Given the description of an element on the screen output the (x, y) to click on. 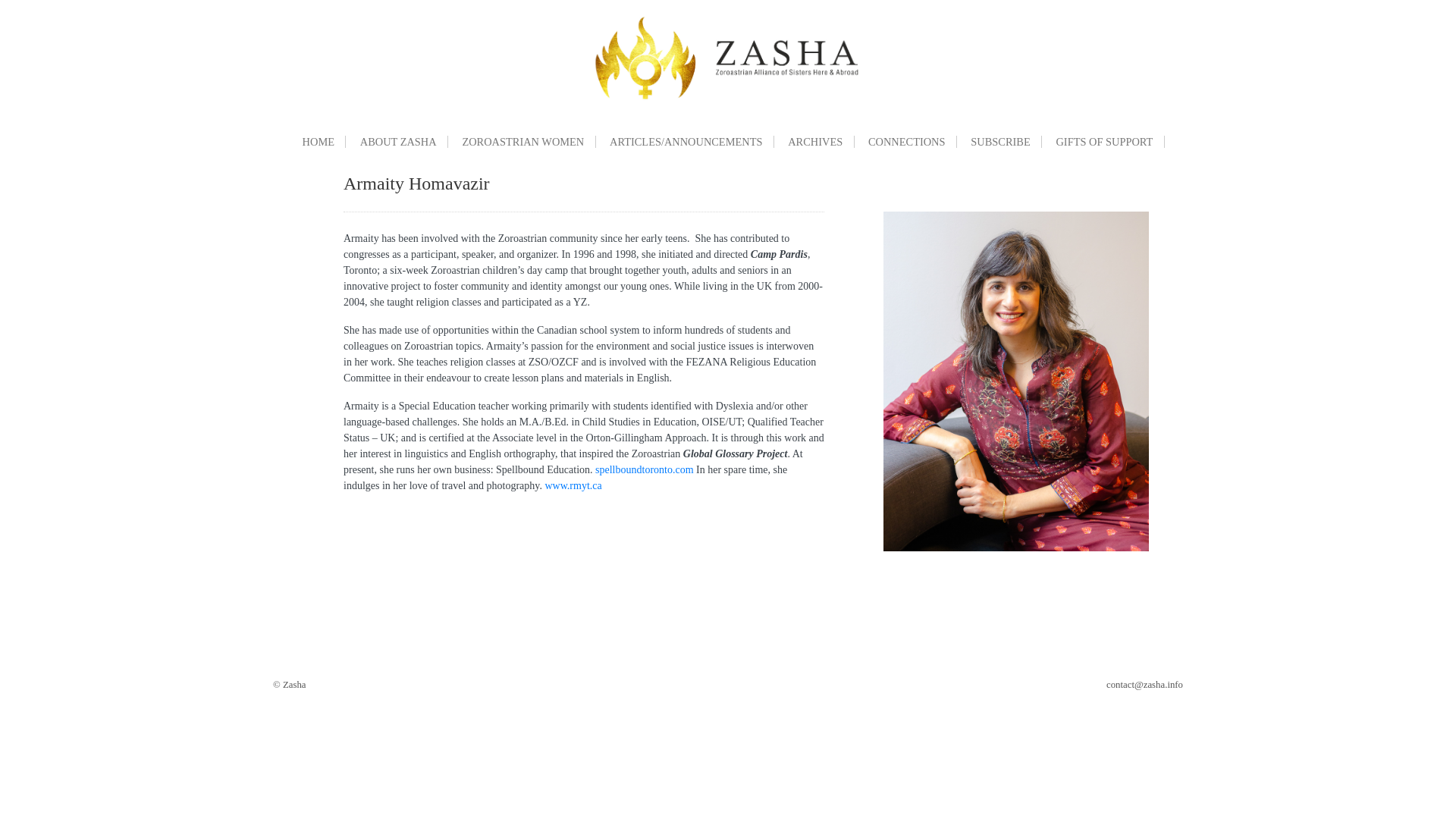
GIFTS OF SUPPORT (1104, 141)
www.rmyt.ca (572, 485)
ZOROASTRIAN WOMEN (523, 141)
ARCHIVES (815, 141)
ABOUT ZASHA (398, 141)
CONNECTIONS (906, 141)
spellboundtoronto.com (644, 469)
HOME (318, 141)
SUBSCRIBE (1000, 141)
